Given the description of an element on the screen output the (x, y) to click on. 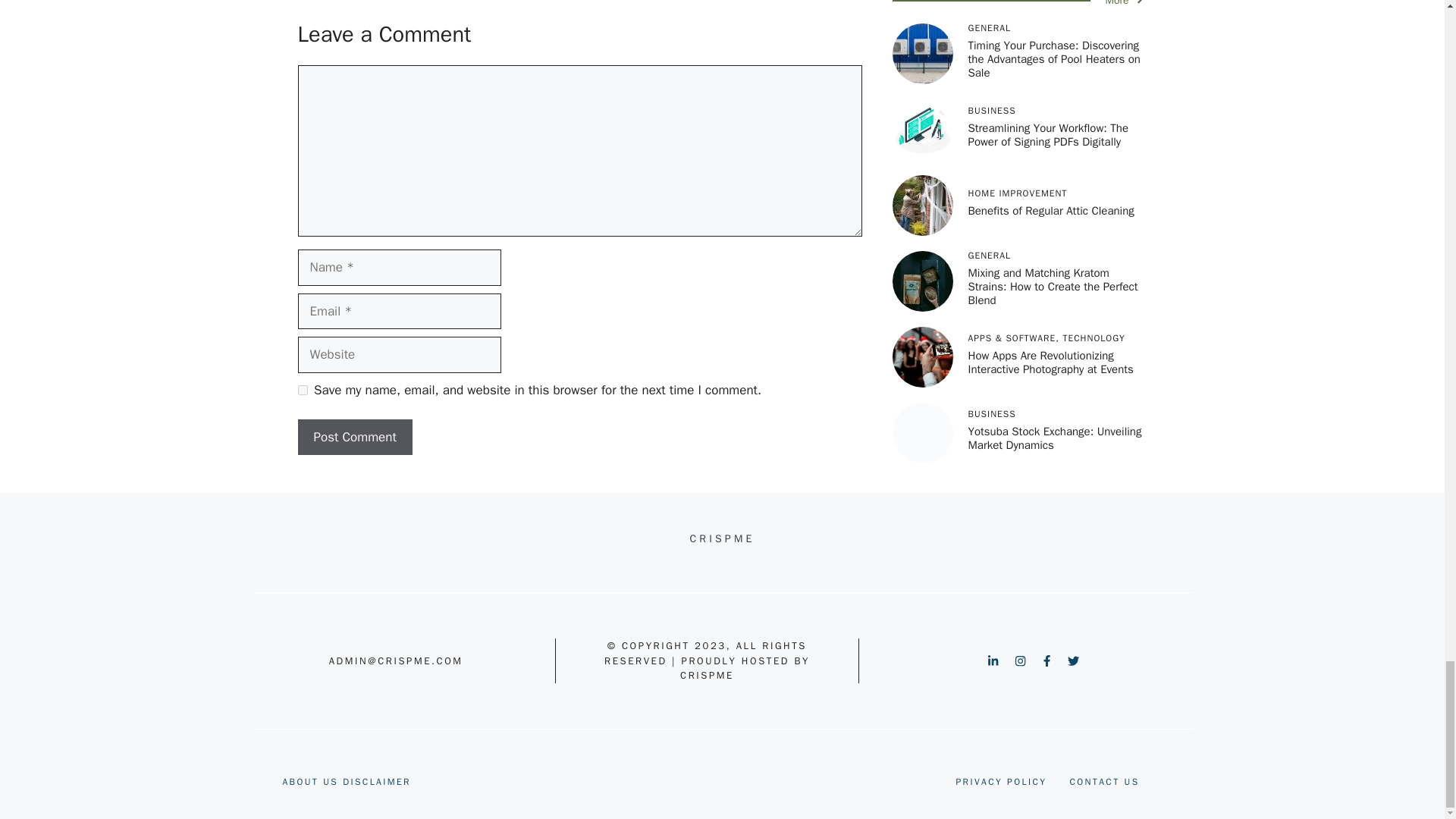
Post Comment (354, 437)
Post Comment (354, 437)
yes (302, 389)
